Given the description of an element on the screen output the (x, y) to click on. 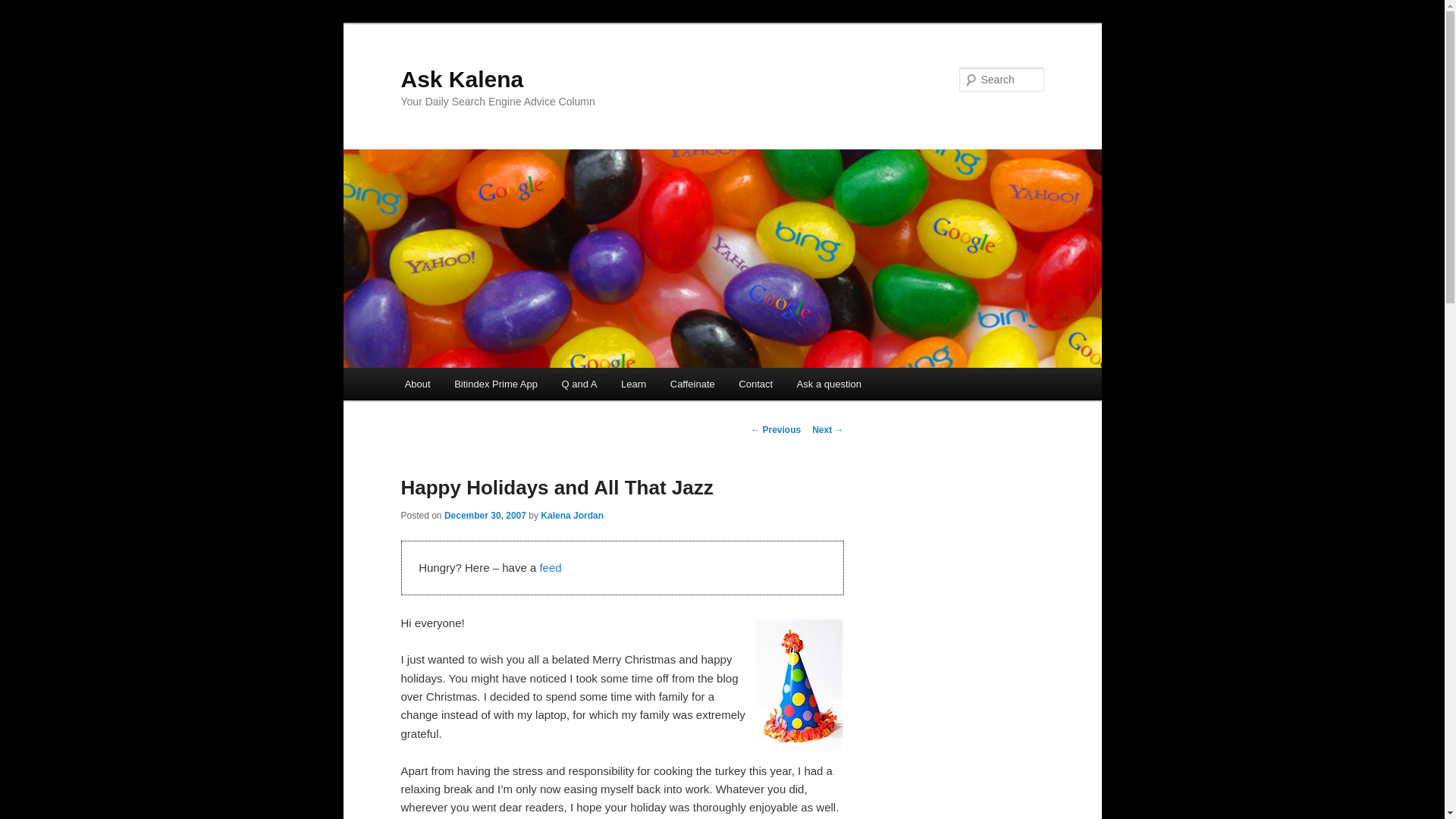
Q and A (579, 383)
11:44 am (484, 515)
December 30, 2007 (484, 515)
View all posts by Kalena Jordan (572, 515)
About (417, 383)
Caffeinate (692, 383)
Search (24, 8)
feed (549, 567)
Kalena Jordan (572, 515)
Ask Kalena (461, 78)
Ask a question (828, 383)
Bitindex Prime App (495, 383)
Learn (633, 383)
Contact (755, 383)
